Given the description of an element on the screen output the (x, y) to click on. 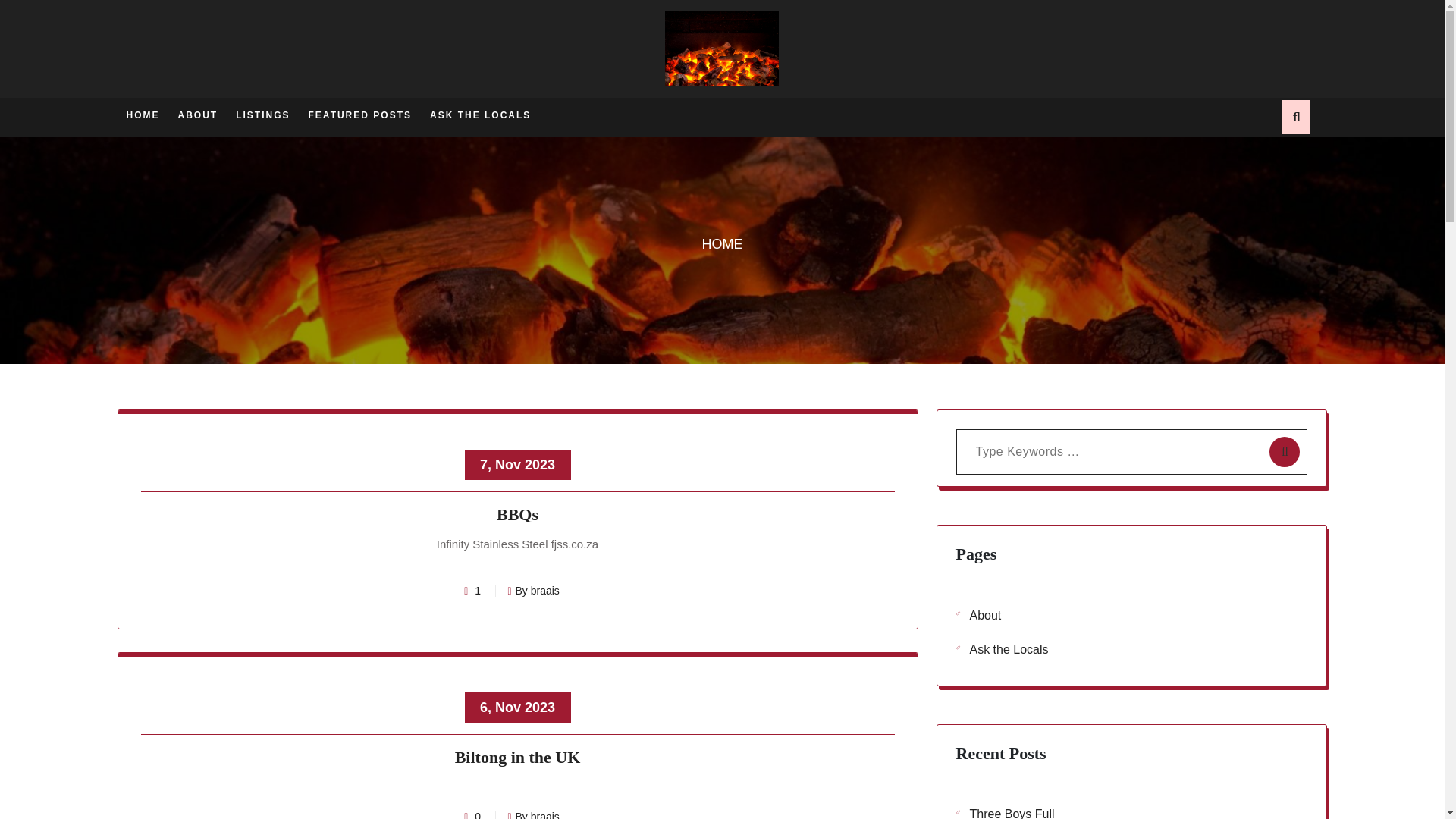
0 (478, 814)
ABOUT (196, 114)
BBQs (518, 517)
ASK THE LOCALS (480, 114)
Biltong in the UK (518, 760)
HOME (141, 114)
LISTINGS (262, 114)
Search (1105, 76)
By braais (532, 814)
HOME (721, 243)
By braais (532, 590)
FEATURED POSTS (360, 114)
1 (478, 590)
